Given the description of an element on the screen output the (x, y) to click on. 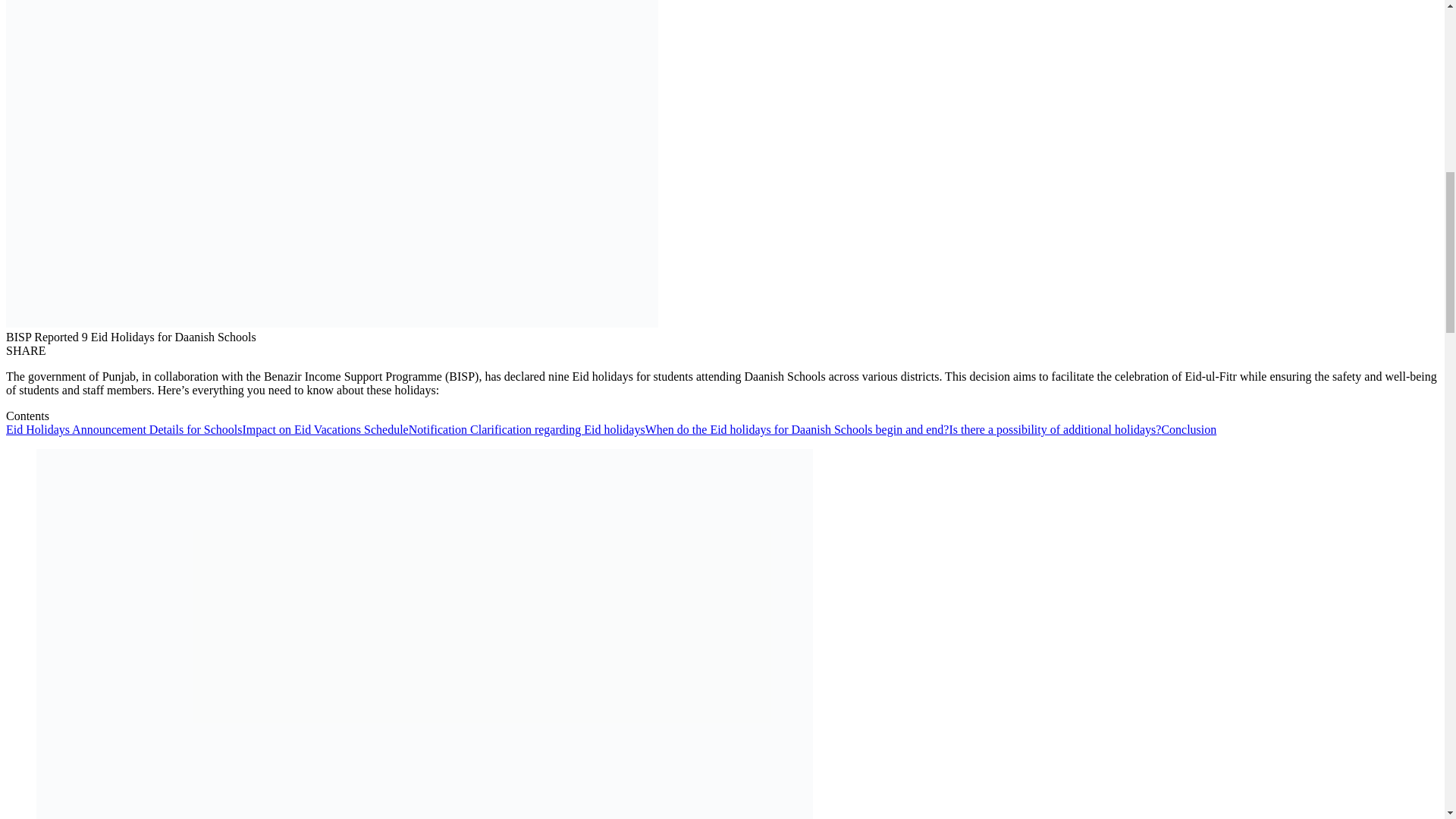
Eid Holidays Announcement Details for Schools (124, 429)
Notification Clarification regarding Eid holidays (527, 429)
Impact on Eid Vacations Schedule (326, 429)
